Given the description of an element on the screen output the (x, y) to click on. 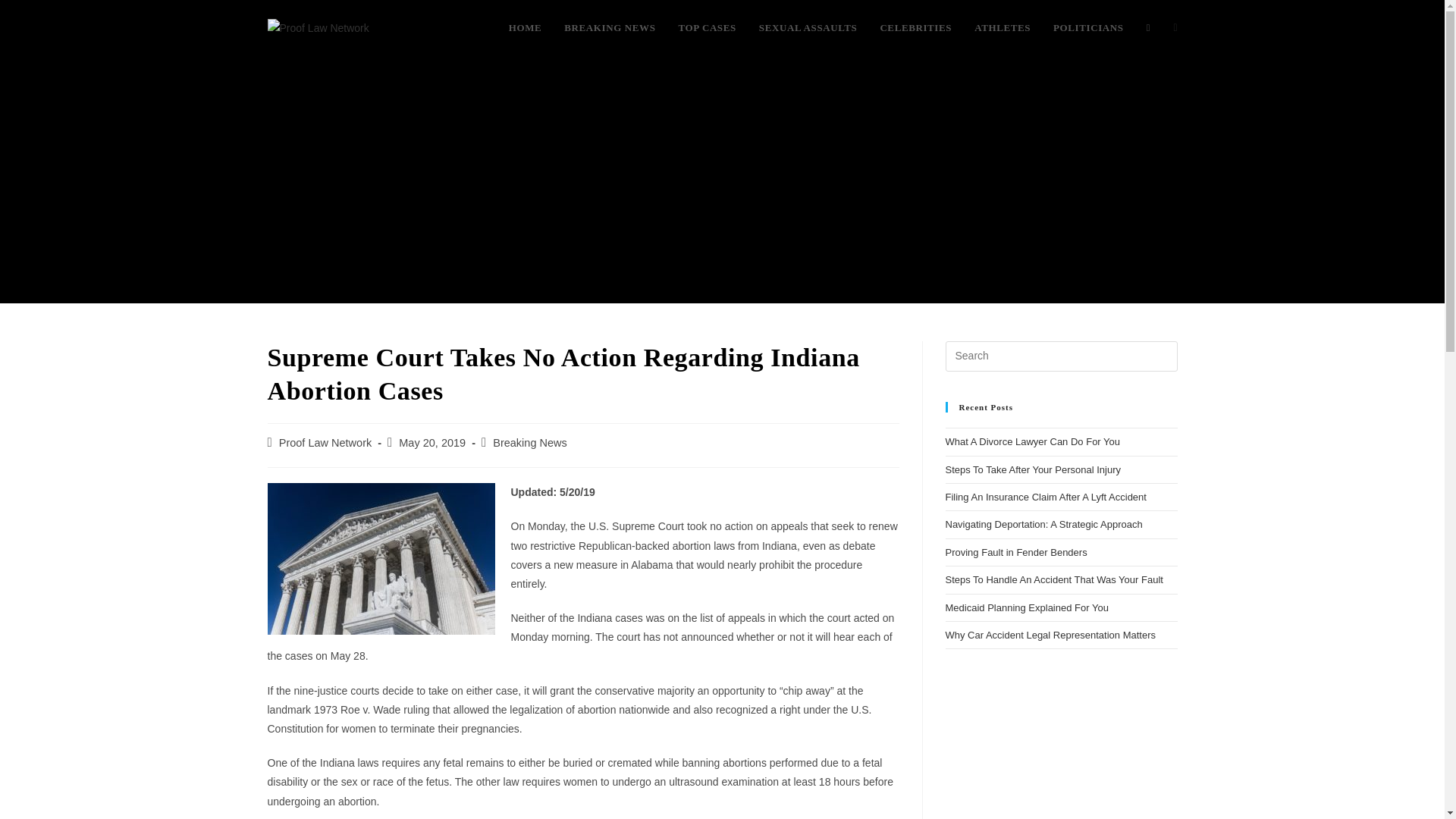
ATHLETES (1002, 28)
Navigating Deportation: A Strategic Approach (1042, 523)
Filing An Insurance Claim After A Lyft Accident (1044, 496)
Steps To Take After Your Personal Injury (1032, 469)
Posts by Proof Law Network (325, 442)
Why Car Accident Legal Representation Matters (1049, 634)
Breaking News (530, 442)
What A Divorce Lawyer Can Do For You (1031, 441)
CELEBRITIES (914, 28)
POLITICIANS (1088, 28)
Proving Fault in Fender Benders (1015, 552)
Medicaid Planning Explained For You (1026, 607)
TOP CASES (706, 28)
Steps To Handle An Accident That Was Your Fault (1052, 579)
HOME (525, 28)
